Given the description of an element on the screen output the (x, y) to click on. 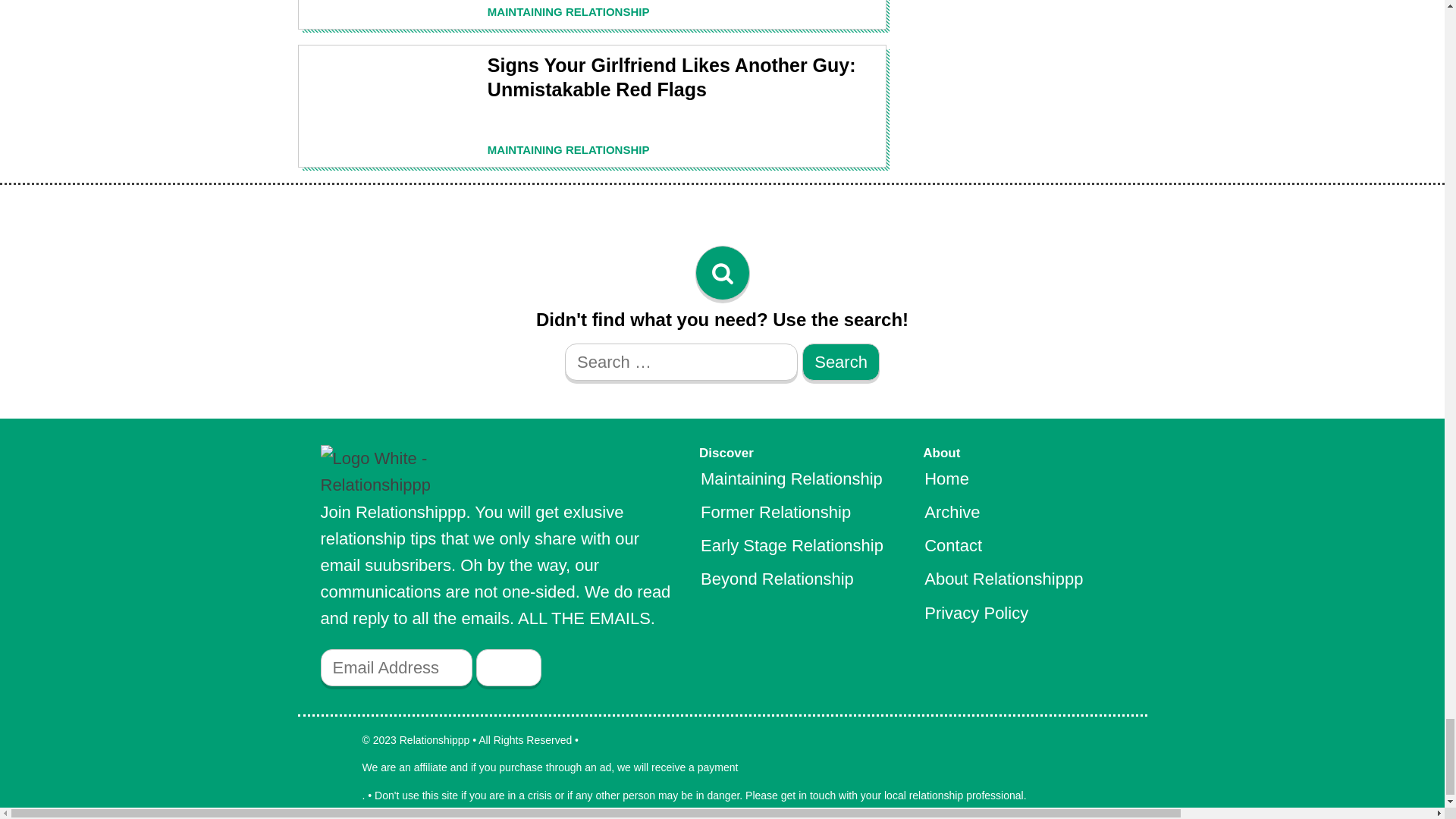
Try it! (508, 666)
Search (840, 361)
Search (840, 361)
